Given the description of an element on the screen output the (x, y) to click on. 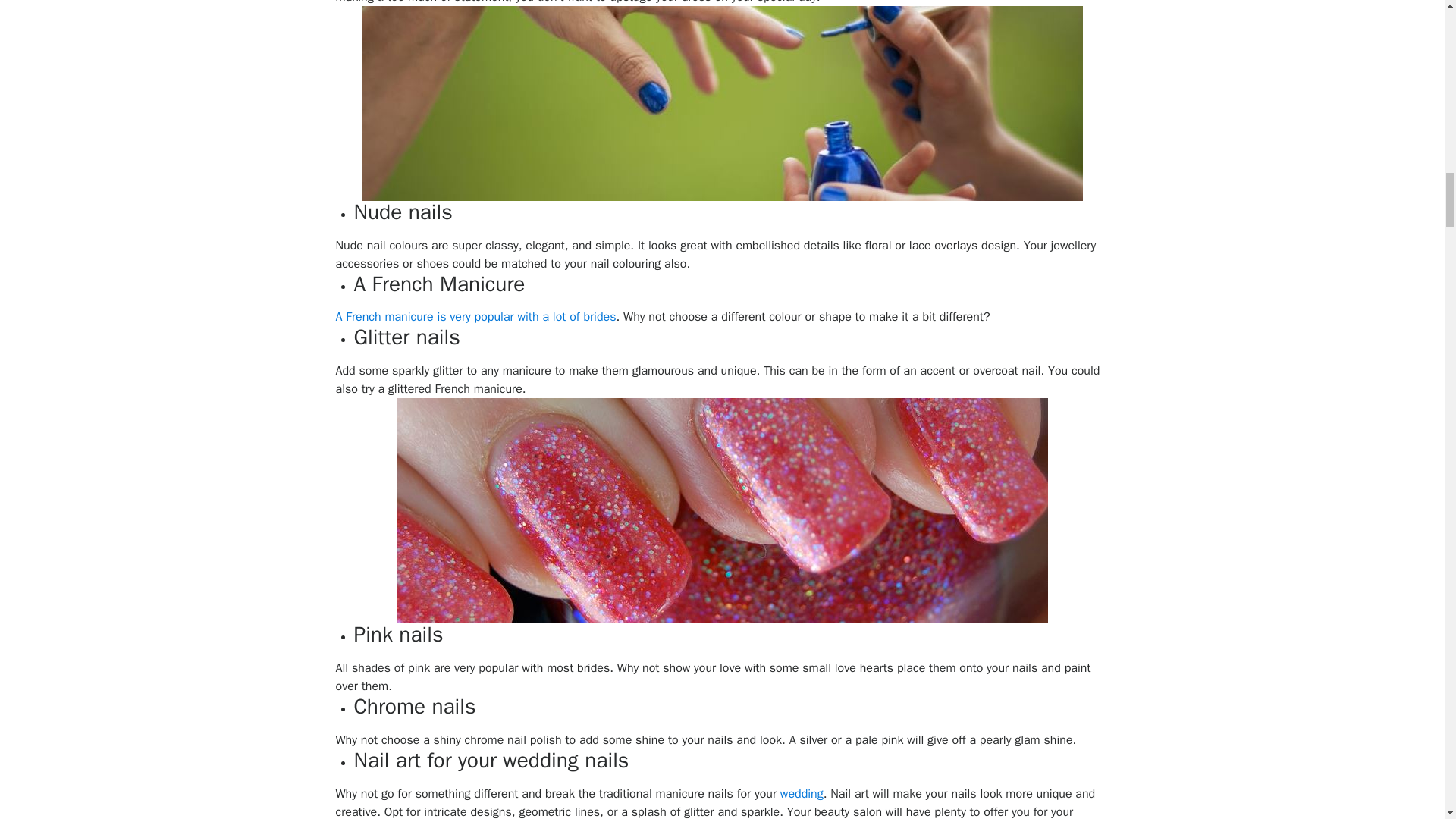
wedding (802, 793)
A French manicure is very popular with a lot of brides (474, 316)
